Given the description of an element on the screen output the (x, y) to click on. 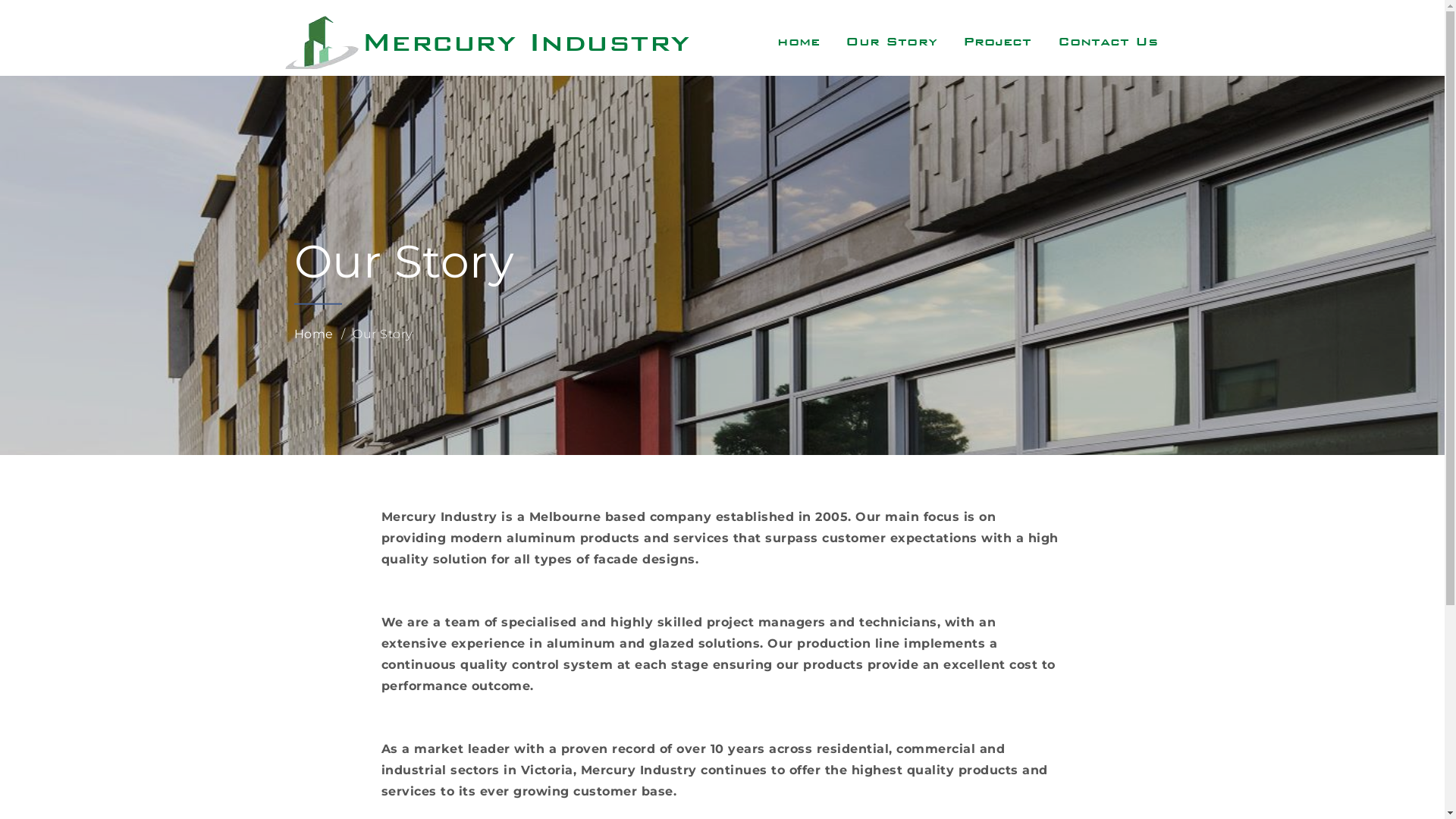
Our Story Element type: text (890, 41)
Project Element type: text (996, 41)
Mercury Industry Element type: text (524, 40)
home Element type: text (797, 41)
Contact Us Element type: text (1108, 41)
Home Element type: text (313, 333)
Skip to content Element type: text (0, 0)
